Given the description of an element on the screen output the (x, y) to click on. 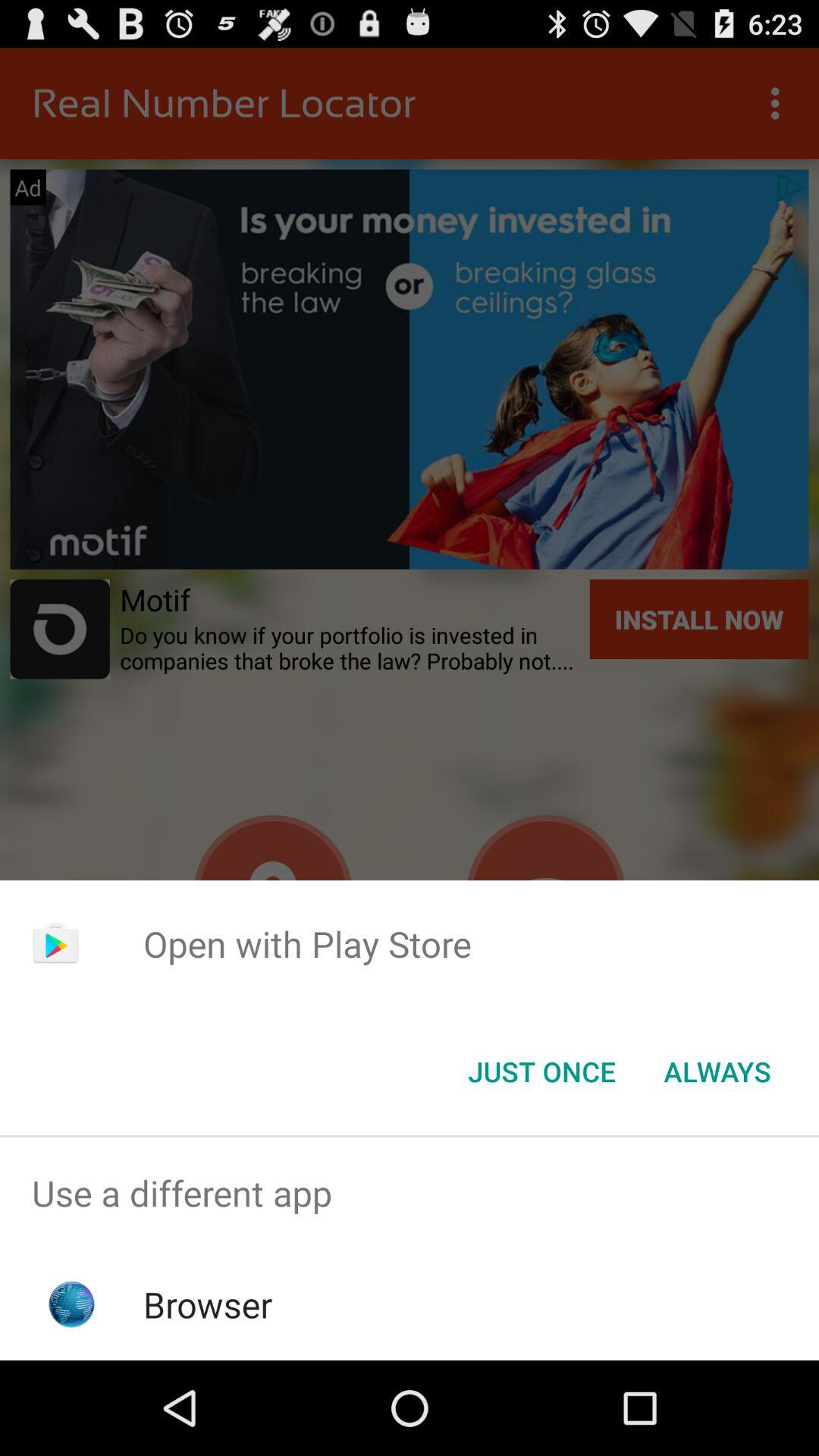
flip until the always (717, 1071)
